Given the description of an element on the screen output the (x, y) to click on. 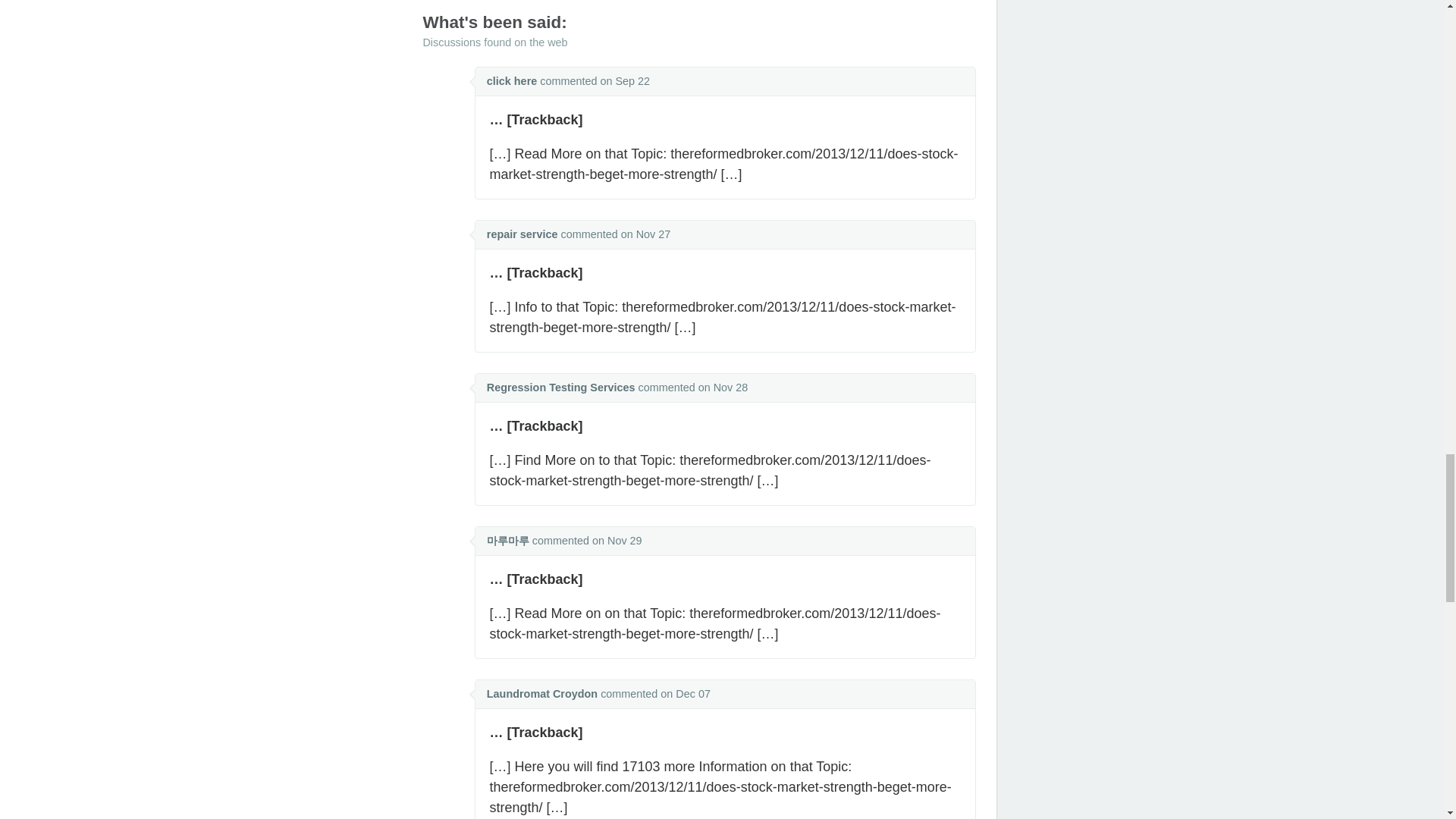
click here (511, 80)
Laundromat Croydon (541, 693)
Regression Testing Services (560, 387)
repair service (521, 234)
